Given the description of an element on the screen output the (x, y) to click on. 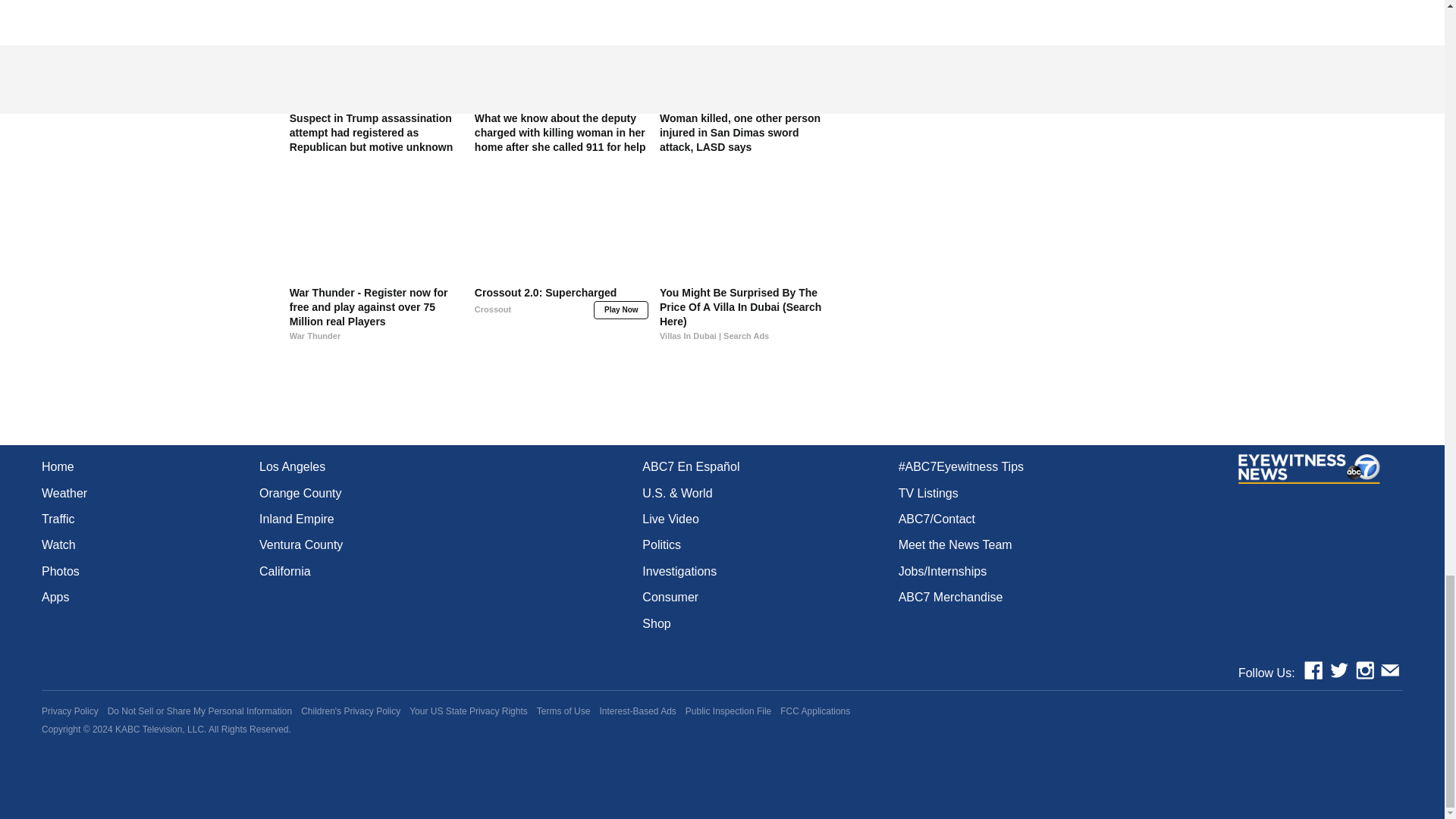
Crossout 2.0: Supercharged (560, 314)
